Given the description of an element on the screen output the (x, y) to click on. 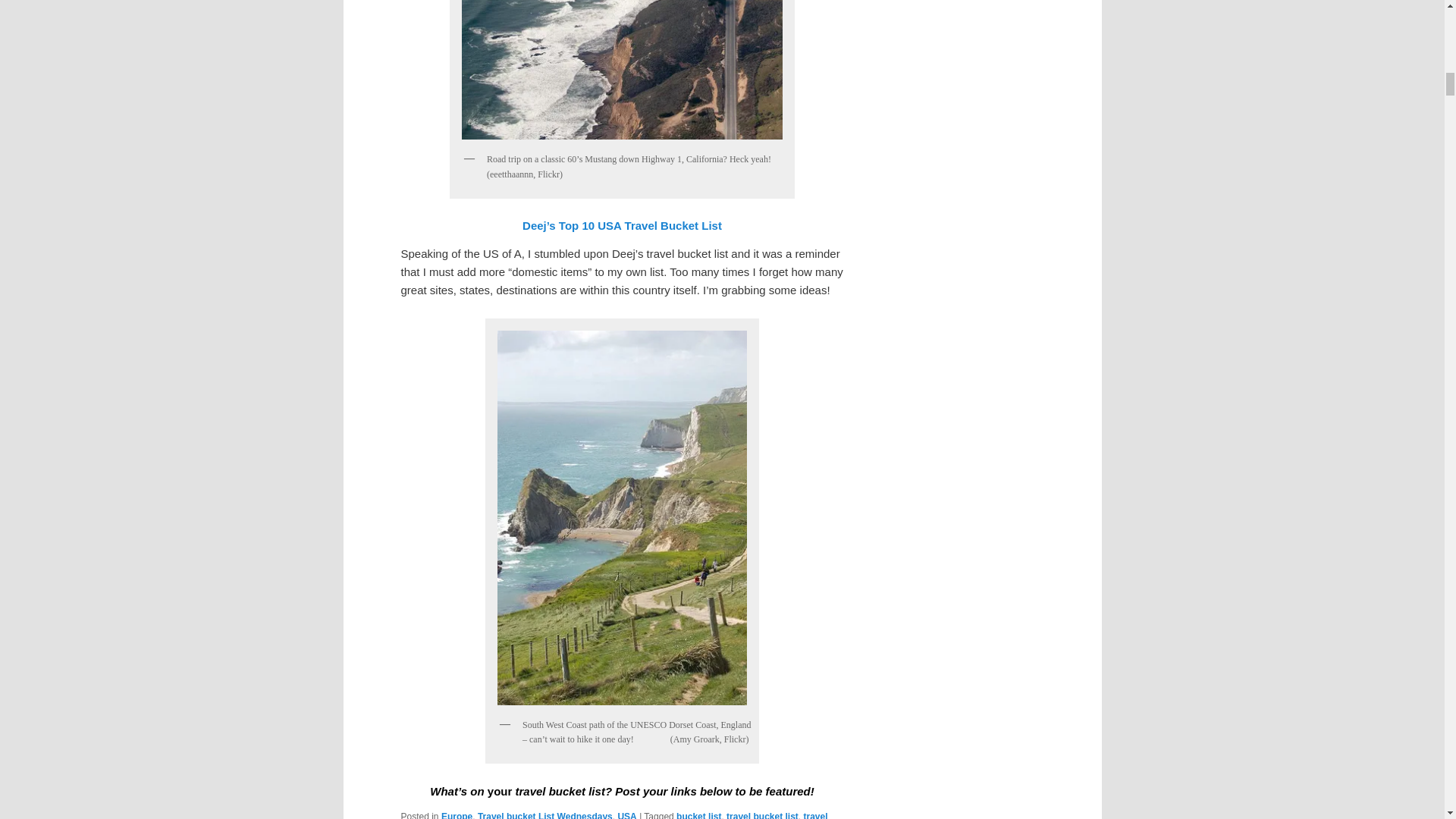
travel bucket list, Highway 1, California (622, 72)
Deej's Top 10 USA Travel Bucket List (622, 225)
